Given the description of an element on the screen output the (x, y) to click on. 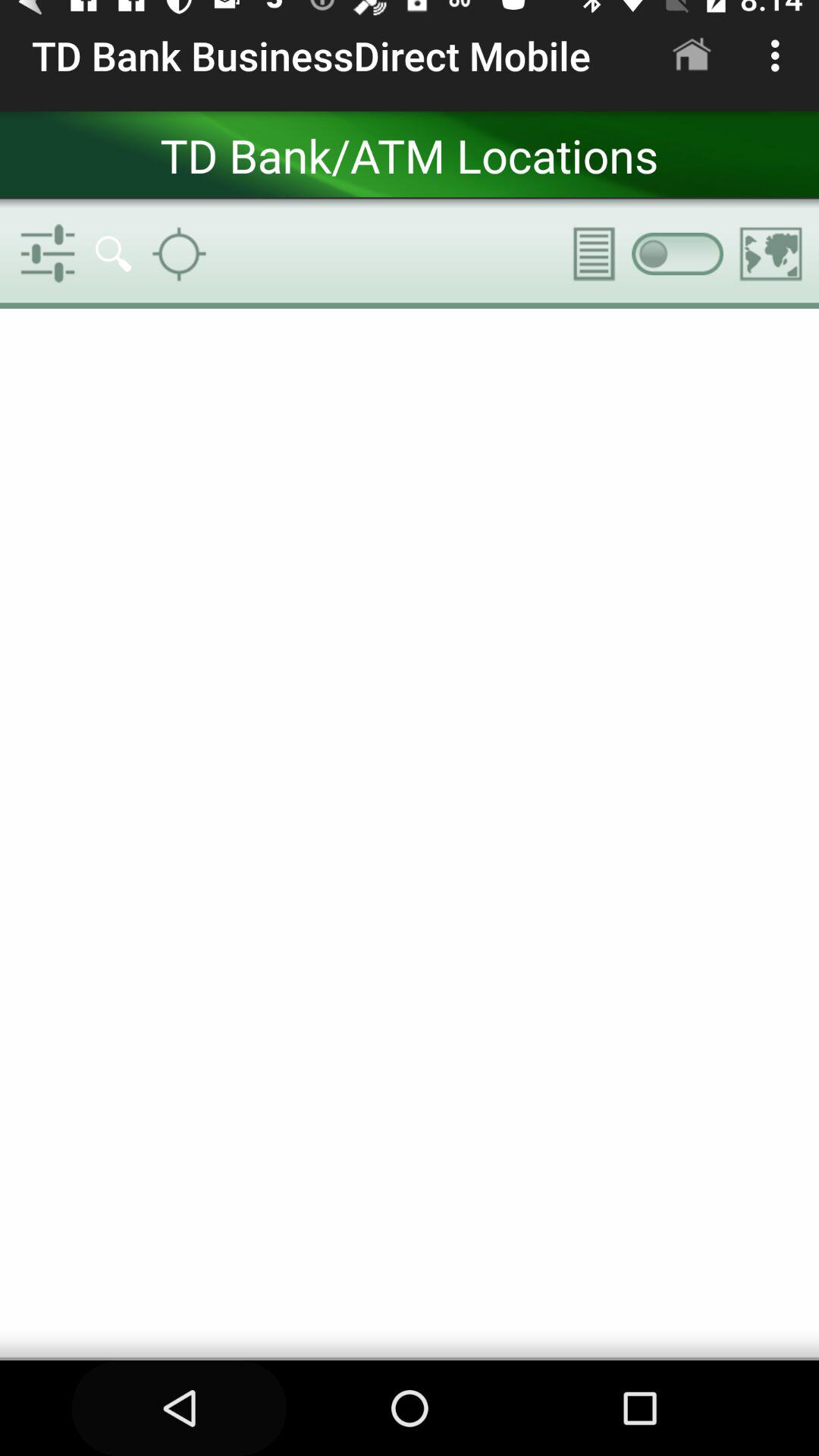
open app to the right of the td bank businessdirect icon (691, 55)
